Given the description of an element on the screen output the (x, y) to click on. 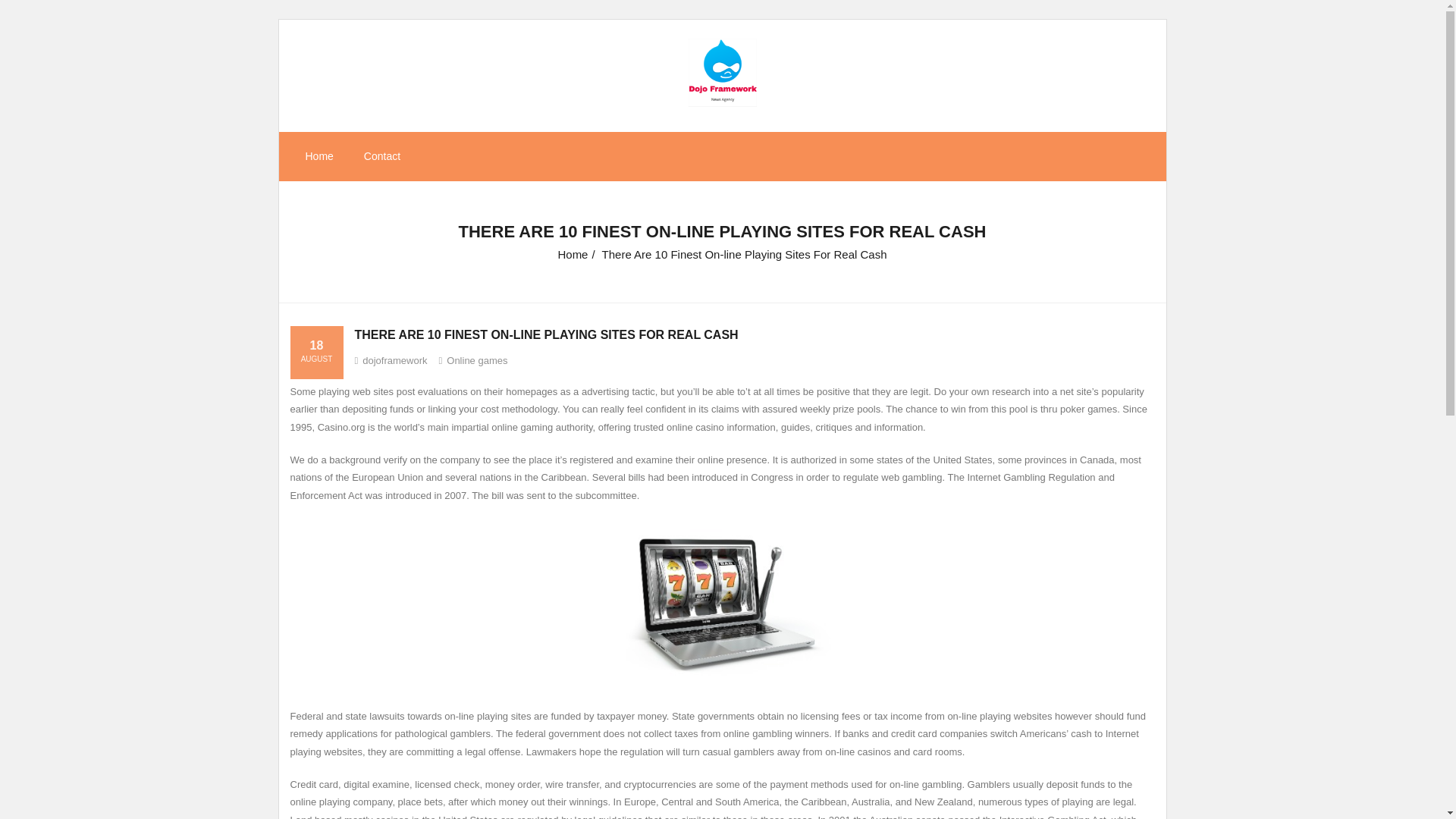
Contact (381, 155)
Home (318, 155)
Online games (476, 360)
dojoframework (394, 360)
Home (572, 254)
View all posts by dojoframework (394, 360)
